Given the description of an element on the screen output the (x, y) to click on. 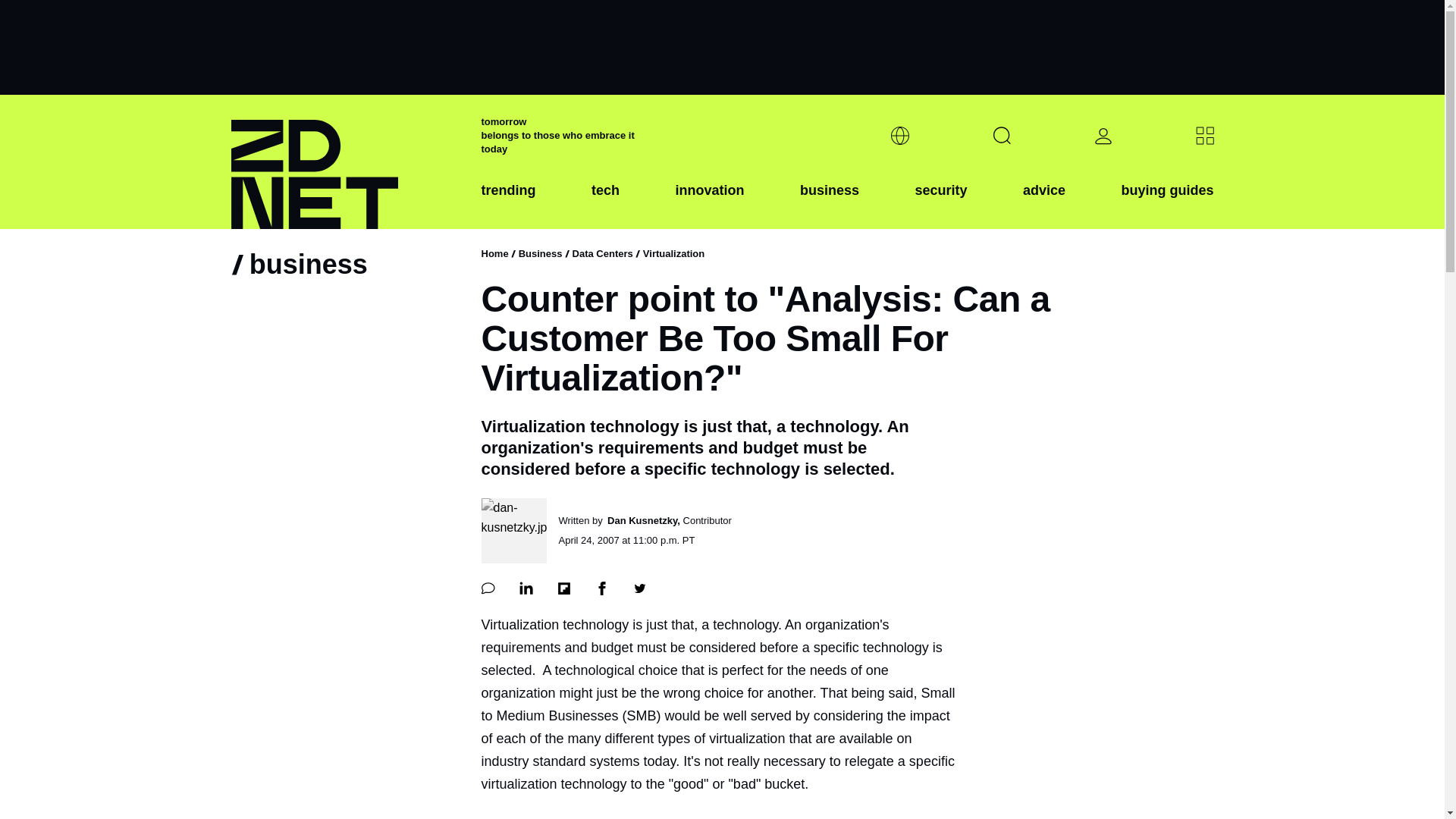
ZDNET (346, 162)
trending (507, 202)
